Given the description of an element on the screen output the (x, y) to click on. 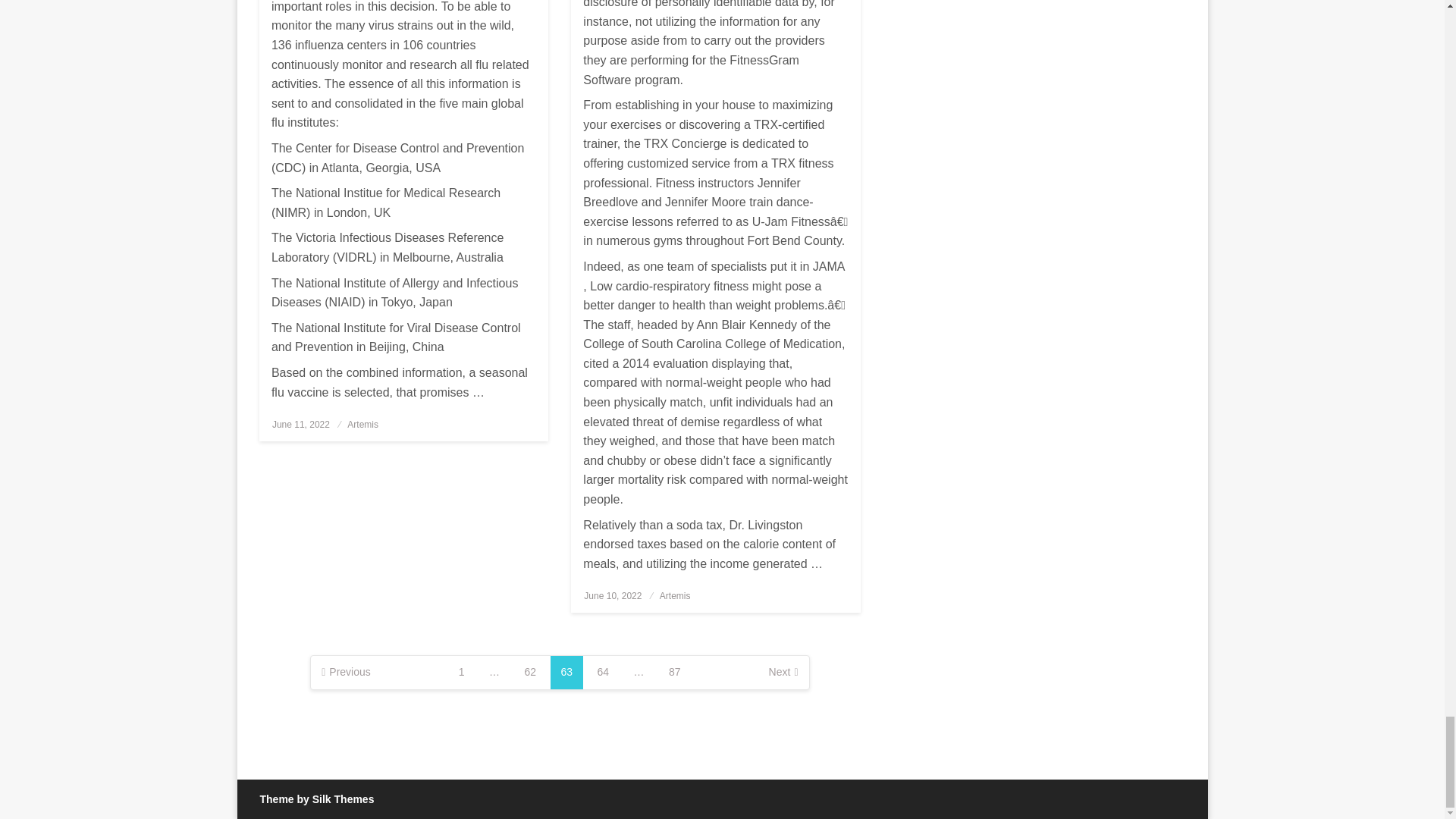
Artemis (362, 424)
Artemis (674, 595)
